Given the description of an element on the screen output the (x, y) to click on. 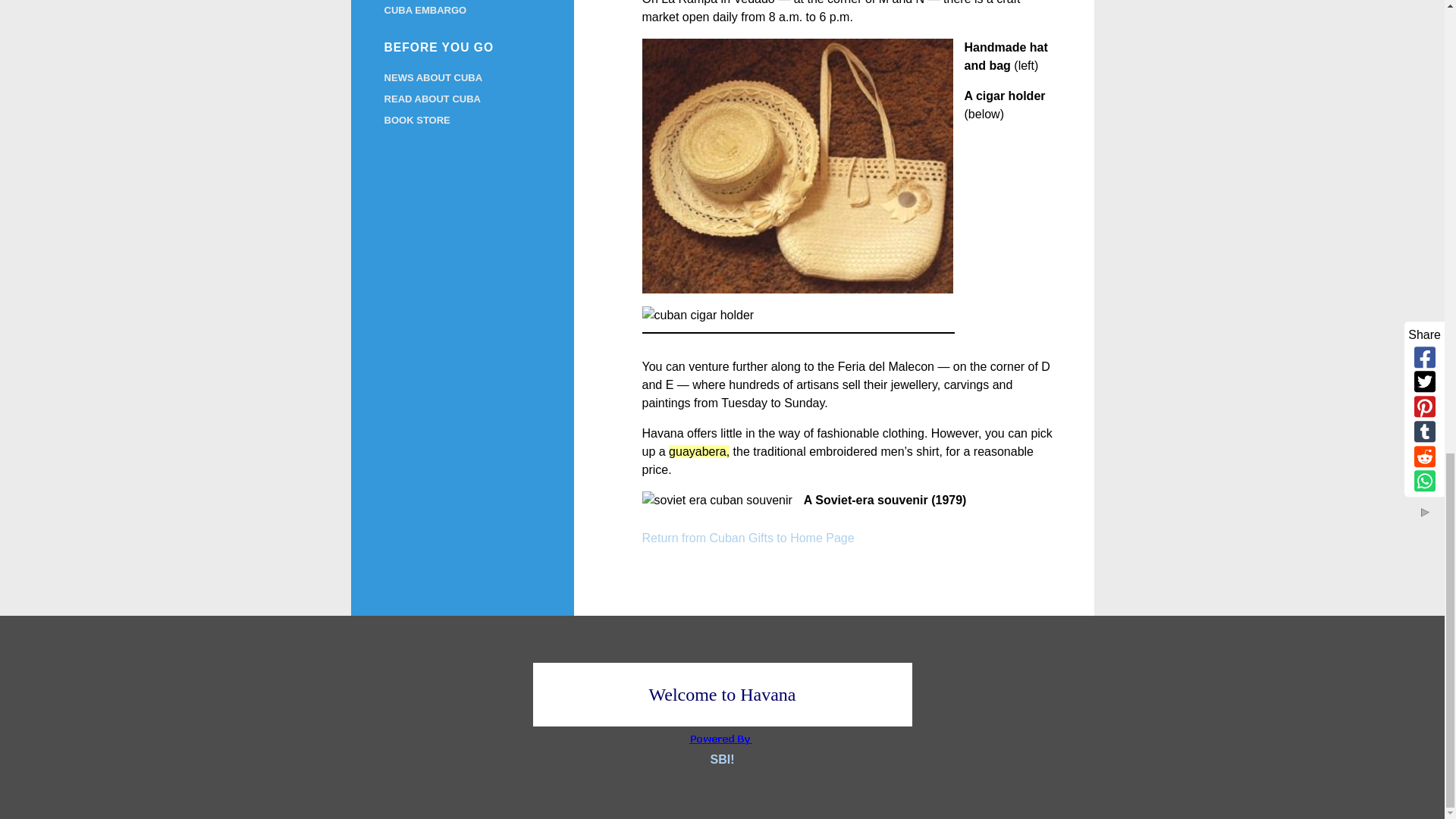
Return from Cuban Gifts to Home Page (748, 537)
soviet era cuban souvenir (717, 500)
cuban handmade hat and bag (797, 165)
cuban cigar holder (698, 315)
